Given the description of an element on the screen output the (x, y) to click on. 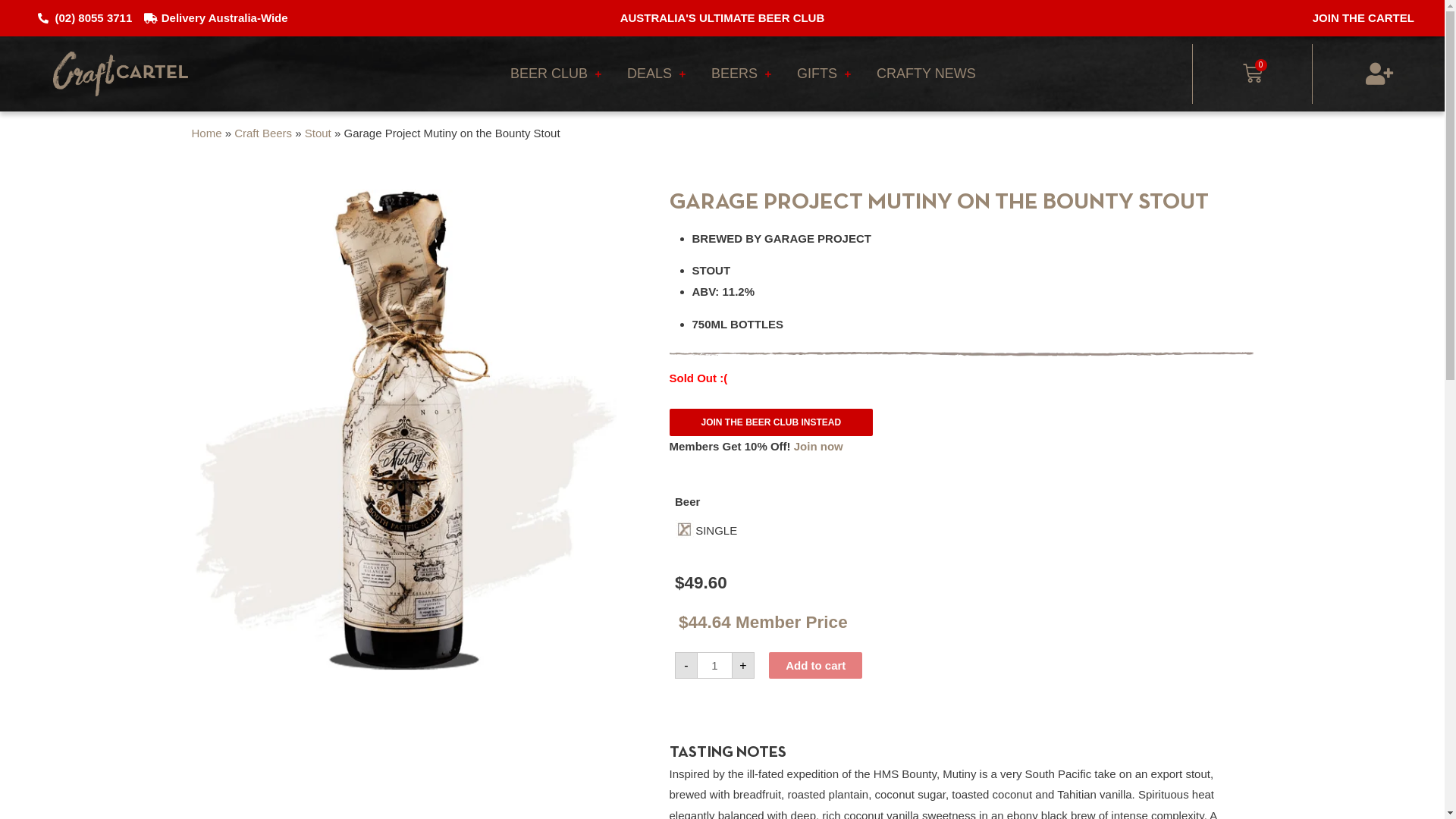
- Element type: text (685, 665)
Add to cart Element type: text (815, 665)
JOIN THE CARTEL Element type: text (1363, 17)
BEERS Element type: text (741, 73)
BEER CLUB Element type: text (555, 73)
DEALS Element type: text (656, 73)
CRAFTY NEWS Element type: text (925, 73)
Stout Element type: text (317, 132)
Garage Project Mutiny on the Bounty Stout Element type: hover (403, 430)
+ Element type: text (742, 665)
Qty Element type: hover (714, 665)
JOIN THE BEER CLUB INSTEAD Element type: text (770, 422)
GIFTS Element type: text (823, 73)
0
Cart Element type: text (1252, 73)
Craft Beers Element type: text (262, 132)
Home Element type: text (206, 132)
Join now Element type: text (818, 445)
